Given the description of an element on the screen output the (x, y) to click on. 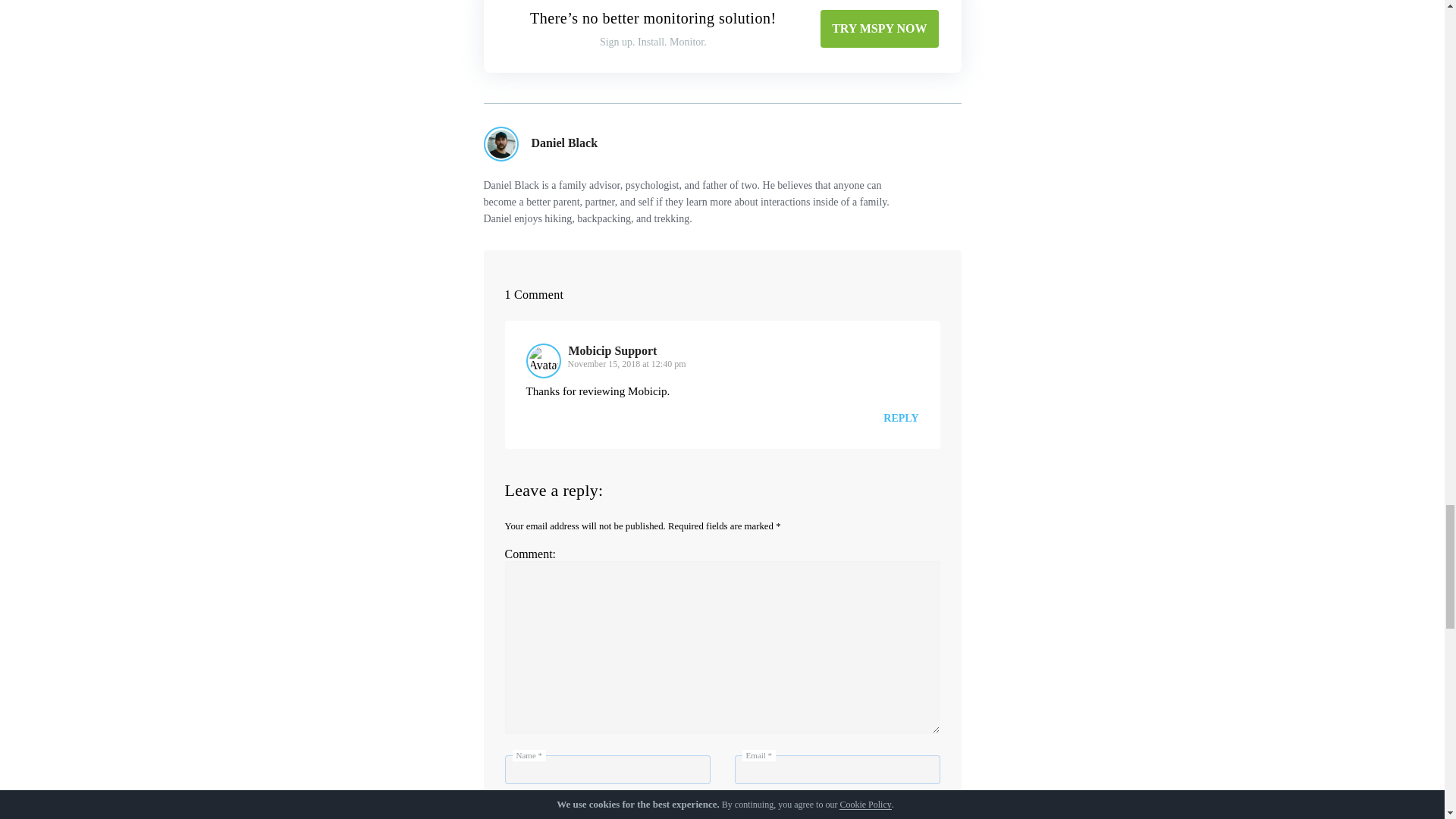
Daniel Black (563, 142)
REPLY (900, 418)
TRY MSPY NOW (879, 28)
November 15, 2018 at 12:40 pm (626, 363)
yes (513, 812)
